Given the description of an element on the screen output the (x, y) to click on. 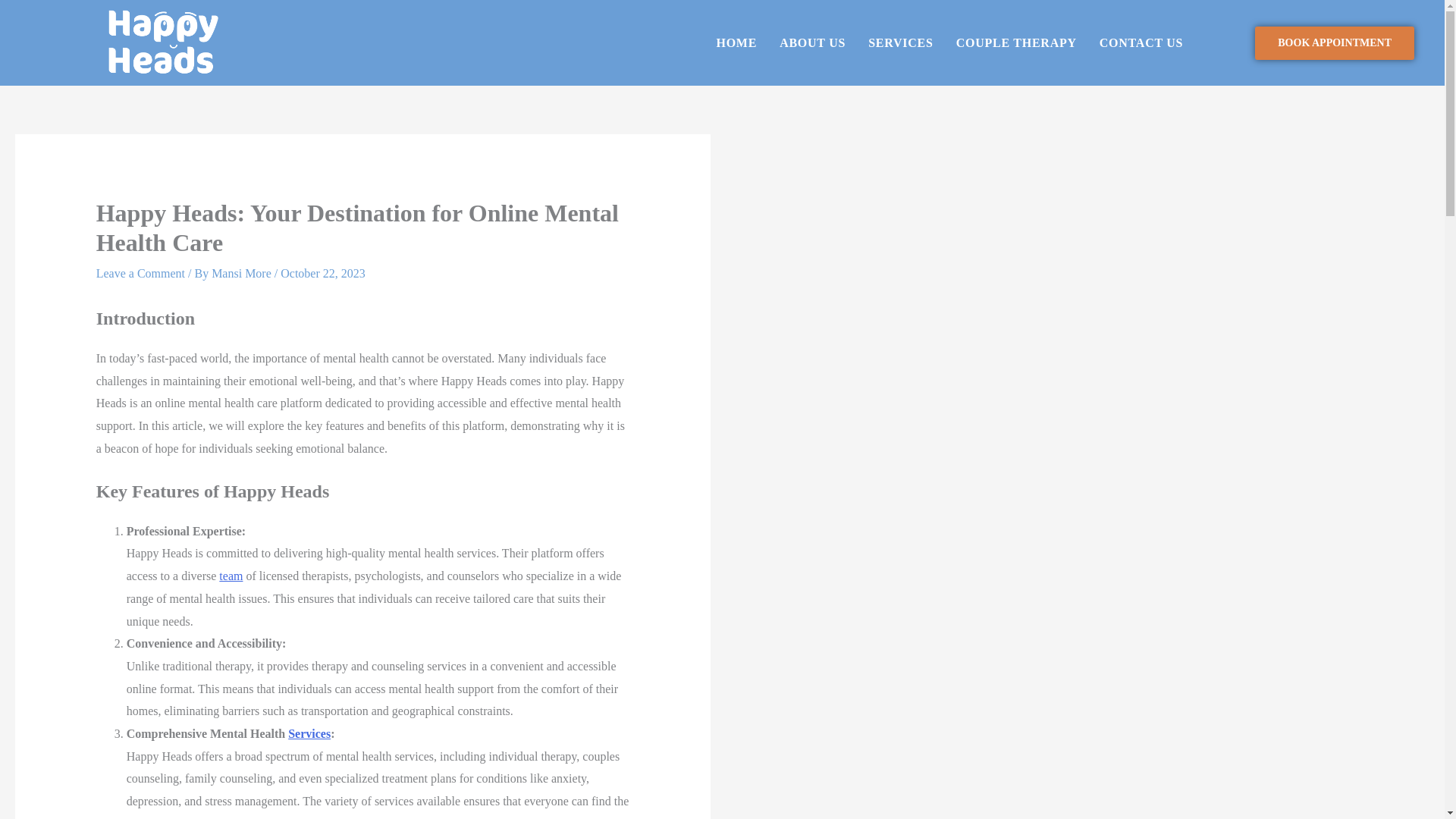
Leave a Comment (140, 273)
BOOK APPOINTMENT (1334, 41)
View all posts by Mansi More (243, 273)
COUPLE THERAPY (1015, 42)
Mansi More (243, 273)
team (231, 575)
ABOUT US (812, 42)
HOME (736, 42)
Services (309, 733)
CONTACT US (1140, 42)
SERVICES (900, 42)
